Given the description of an element on the screen output the (x, y) to click on. 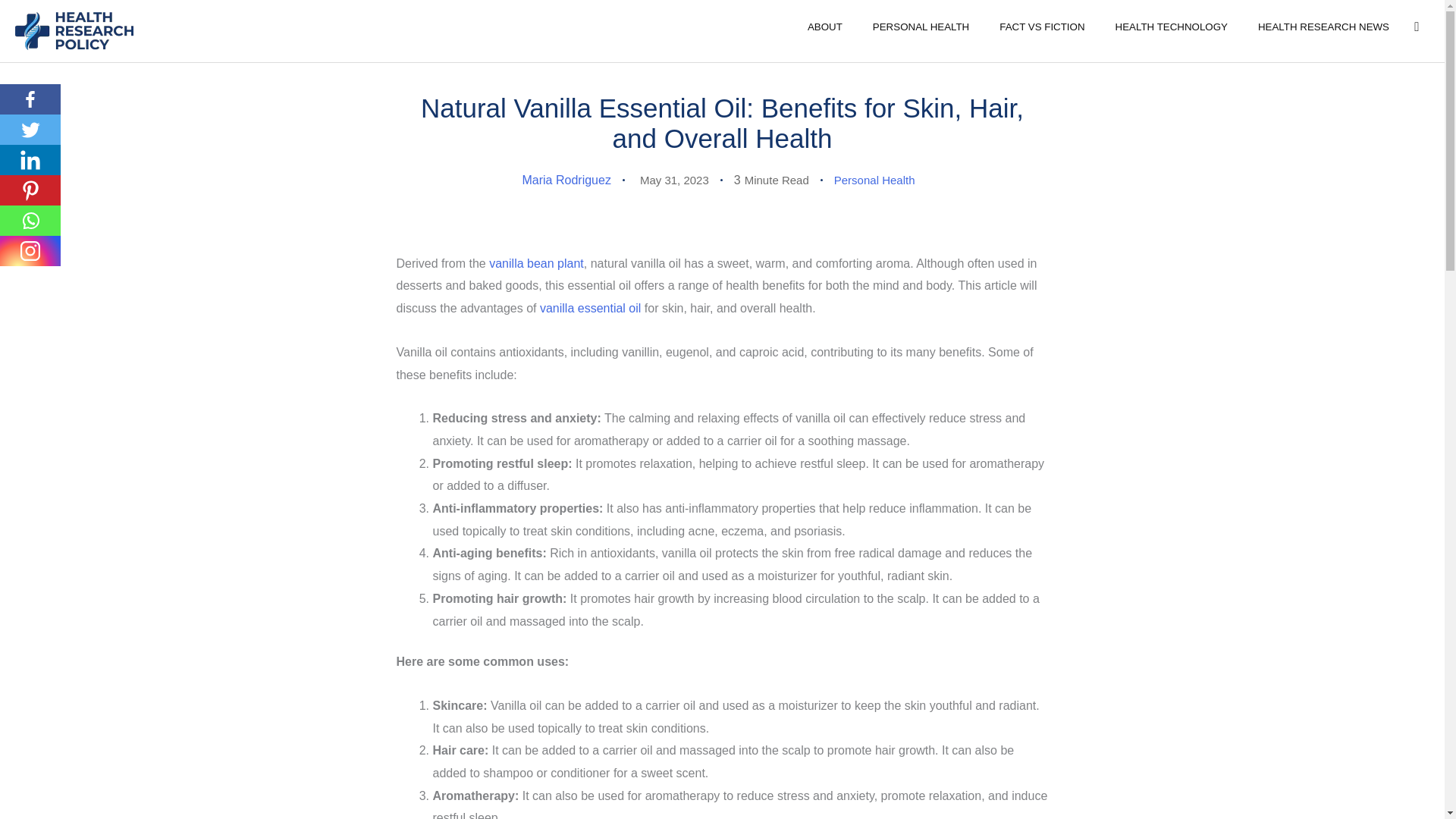
Facebook (30, 99)
Linkedin (30, 159)
Personal Health (874, 180)
Twitter (30, 129)
FACT VS FICTION (1041, 26)
Pinterest (30, 190)
Whatsapp (30, 220)
vanilla essential oil (590, 308)
HEALTH TECHNOLOGY (1171, 26)
Maria Rodriguez (565, 179)
HEALTH RESEARCH NEWS (1324, 26)
Instagram (30, 250)
vanilla bean plant (536, 263)
PERSONAL HEALTH (920, 26)
ABOUT (824, 26)
